Given the description of an element on the screen output the (x, y) to click on. 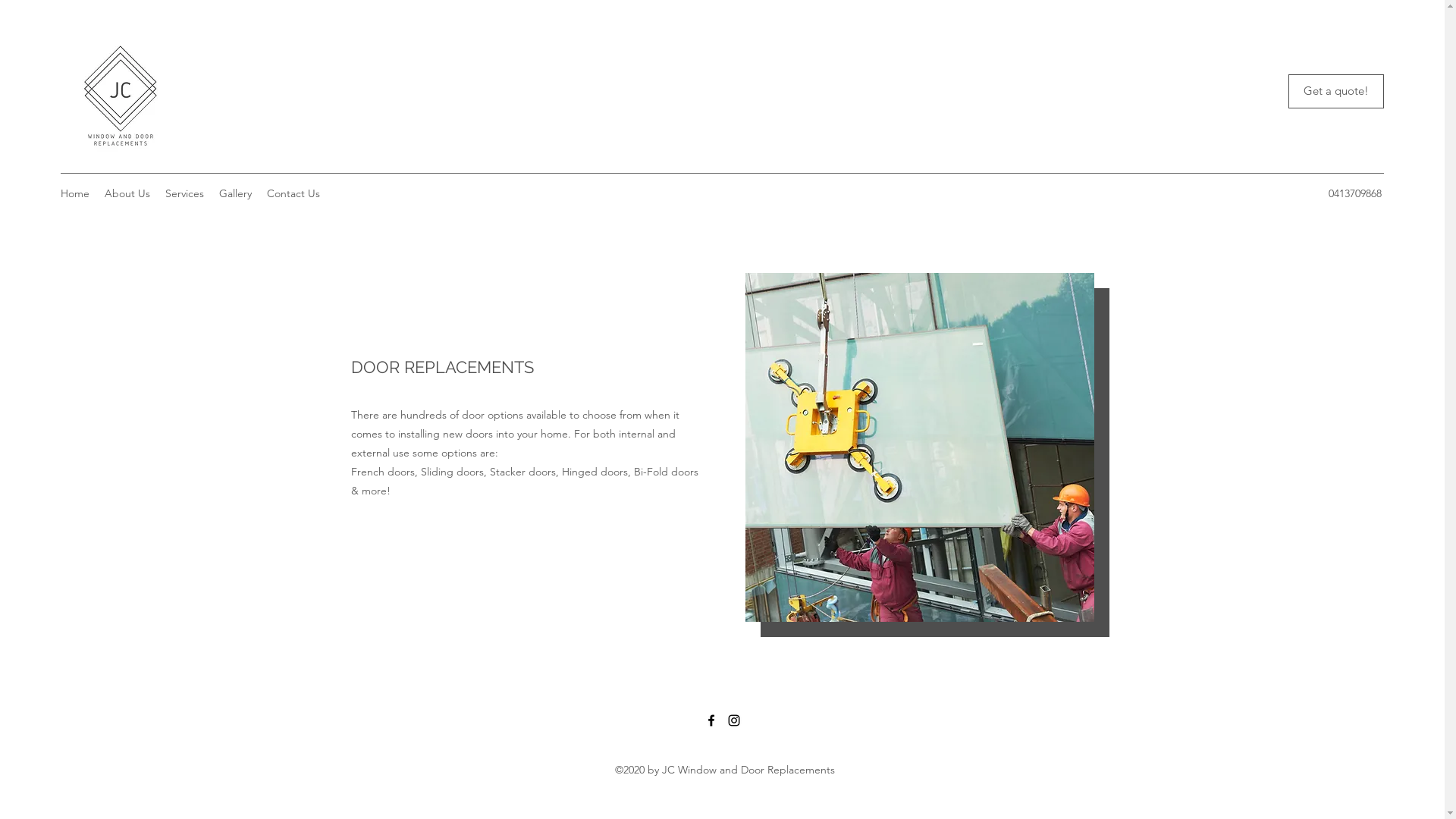
Contact Us Element type: text (293, 193)
Home Element type: text (75, 193)
About Us Element type: text (127, 193)
Get a quote! Element type: text (1335, 91)
Gallery Element type: text (235, 193)
